Given the description of an element on the screen output the (x, y) to click on. 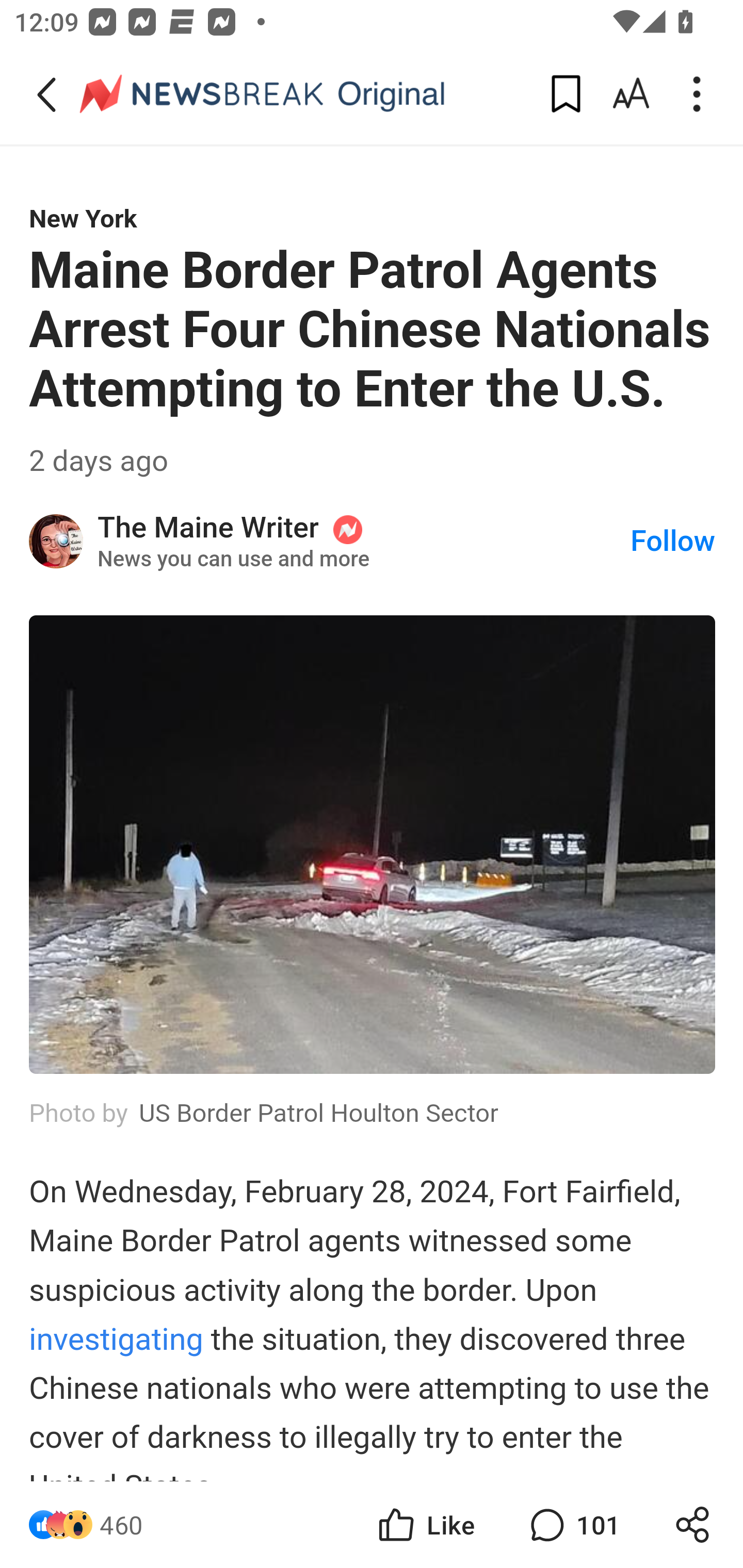
The Maine Writer  News you can use and more (364, 540)
The (56, 540)
Follow (673, 541)
investigating (115, 1338)
460 (121, 1524)
Like (425, 1524)
101 (572, 1524)
